Given the description of an element on the screen output the (x, y) to click on. 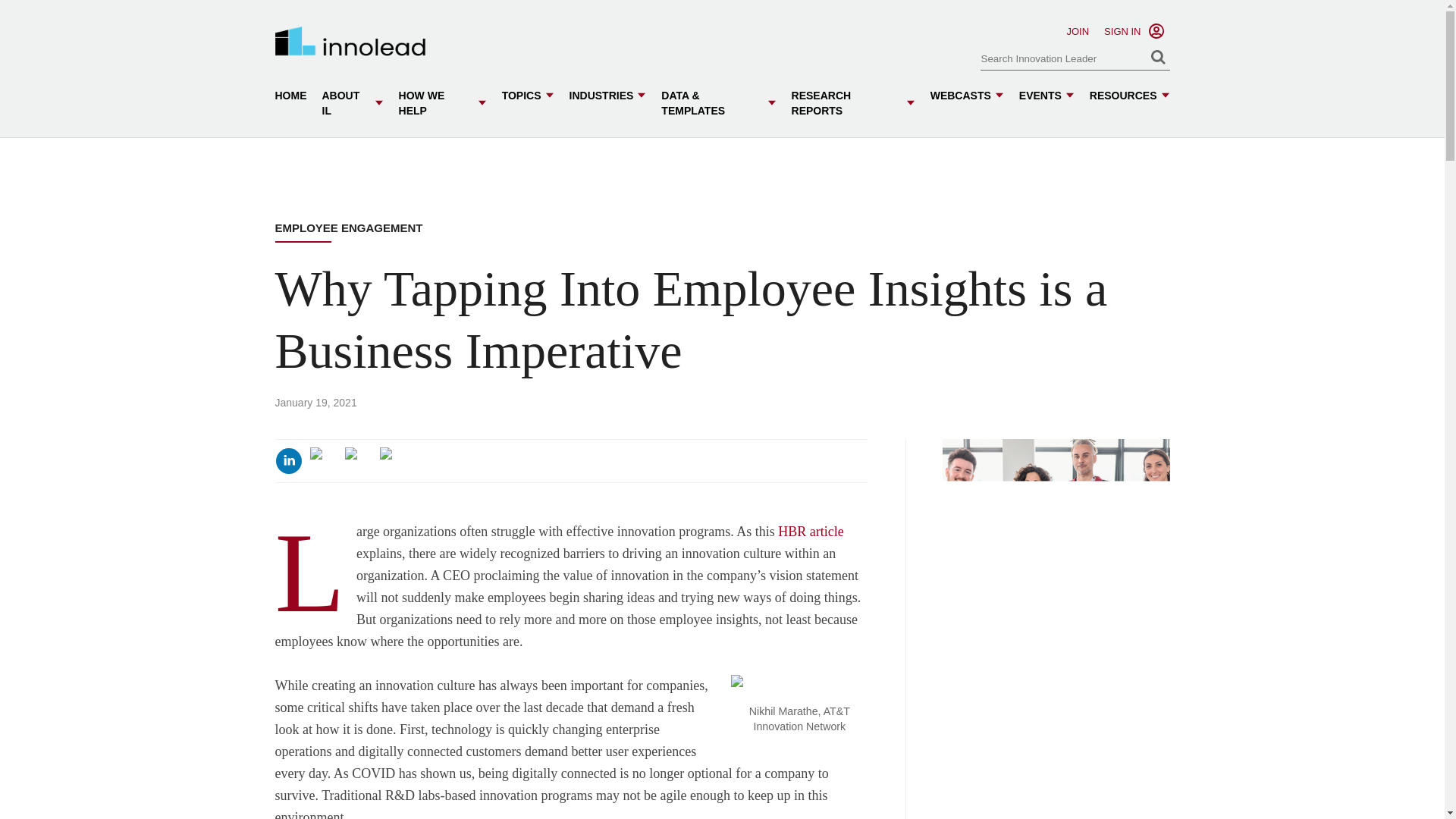
HOME (290, 96)
Twitter (322, 461)
Email (392, 461)
SIGN IN (1121, 30)
TOPICS (528, 96)
LinkedIn (288, 461)
Facebook (357, 461)
JOIN (1077, 30)
HOW WE HELP (442, 103)
ABOUT IL (351, 103)
